Given the description of an element on the screen output the (x, y) to click on. 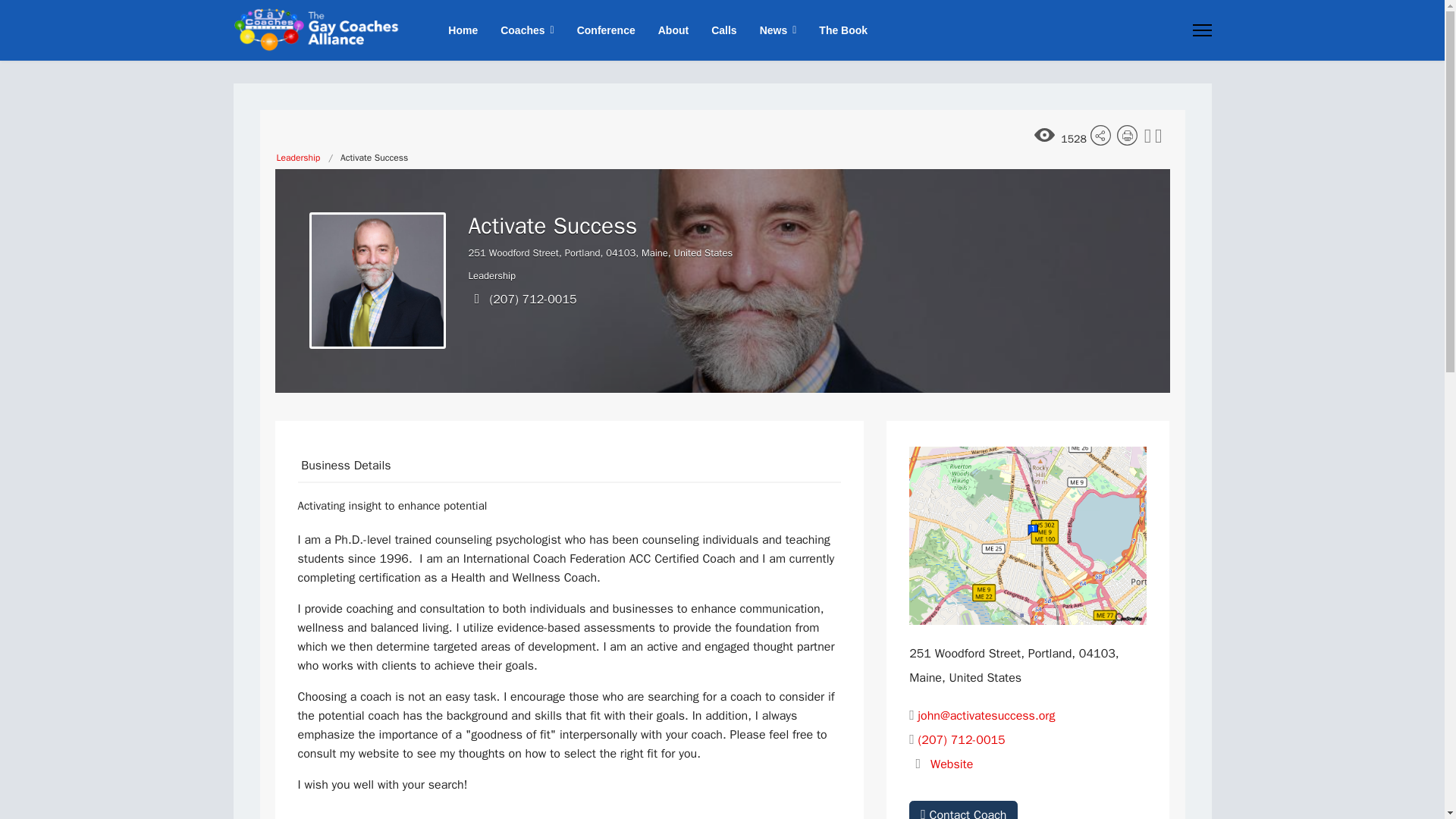
Coaches (526, 30)
Contact Coach (962, 809)
Leadership (492, 275)
Leadership (298, 157)
Activate Success (376, 280)
News (778, 30)
Website (951, 764)
The Book (837, 30)
Activate Success Website (951, 764)
Conference (606, 30)
